Given the description of an element on the screen output the (x, y) to click on. 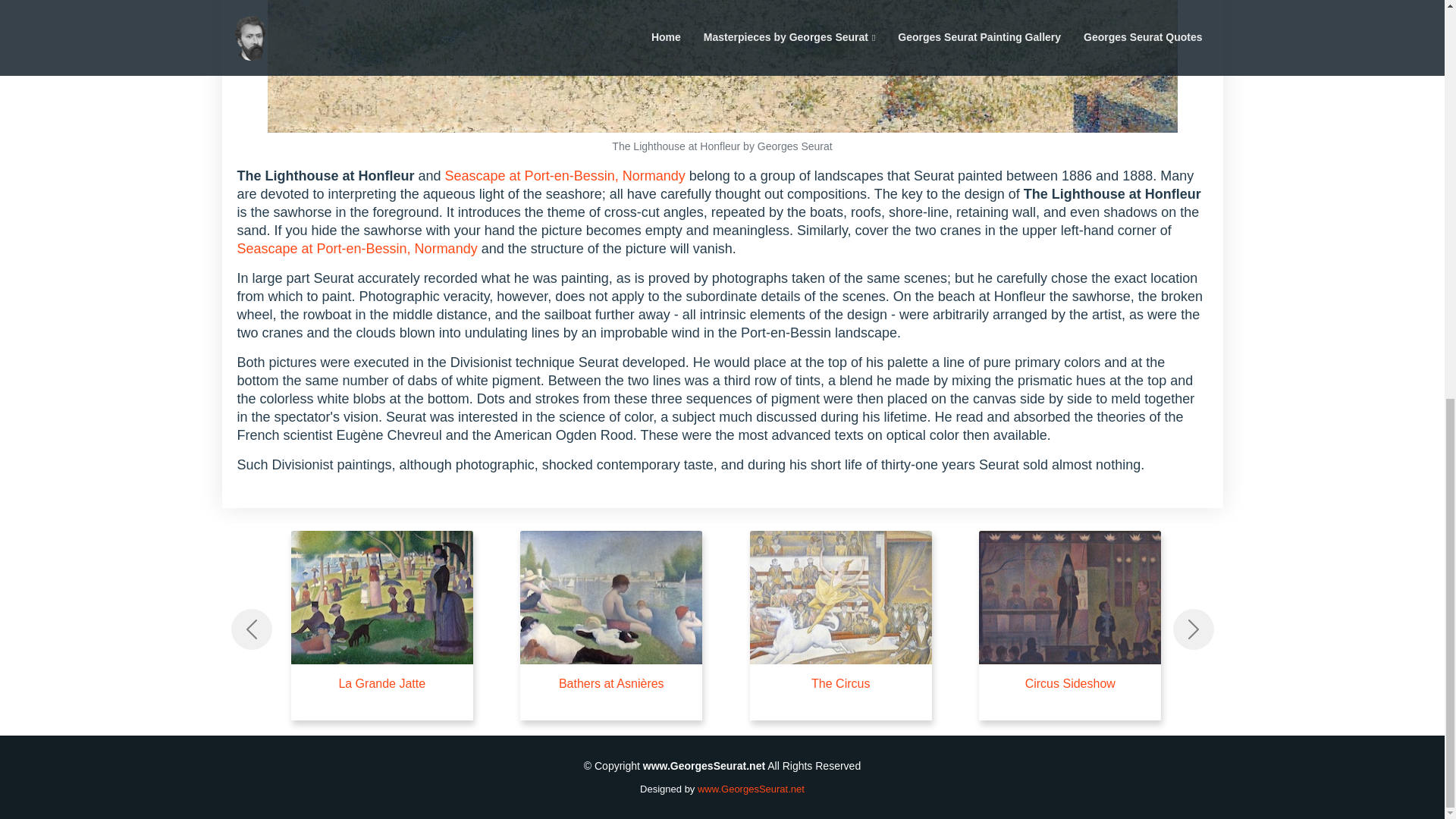
The Circus (840, 683)
Circus Sideshow (1069, 683)
Seascape at Port-en-Bessin, Normandy (356, 248)
Seascape at Port-en-Bessin, Normandy (565, 175)
La Grande Jatte (381, 683)
